Given the description of an element on the screen output the (x, y) to click on. 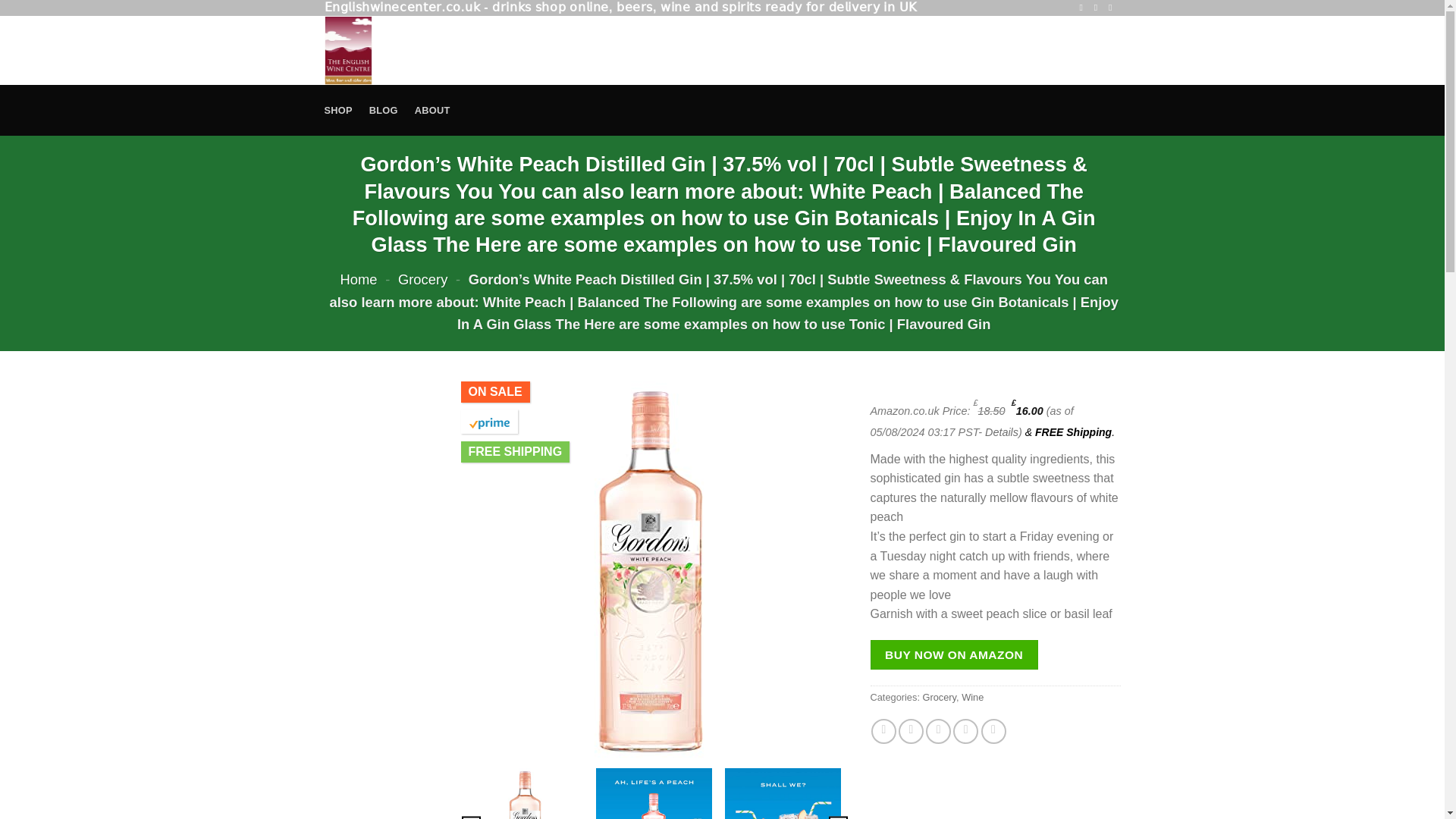
Search (933, 50)
BUY NOW ON AMAZON (954, 654)
Grocery (421, 279)
Details (1001, 431)
Grocery (938, 696)
FREE SHIPPING (515, 451)
Wine (972, 696)
